Given the description of an element on the screen output the (x, y) to click on. 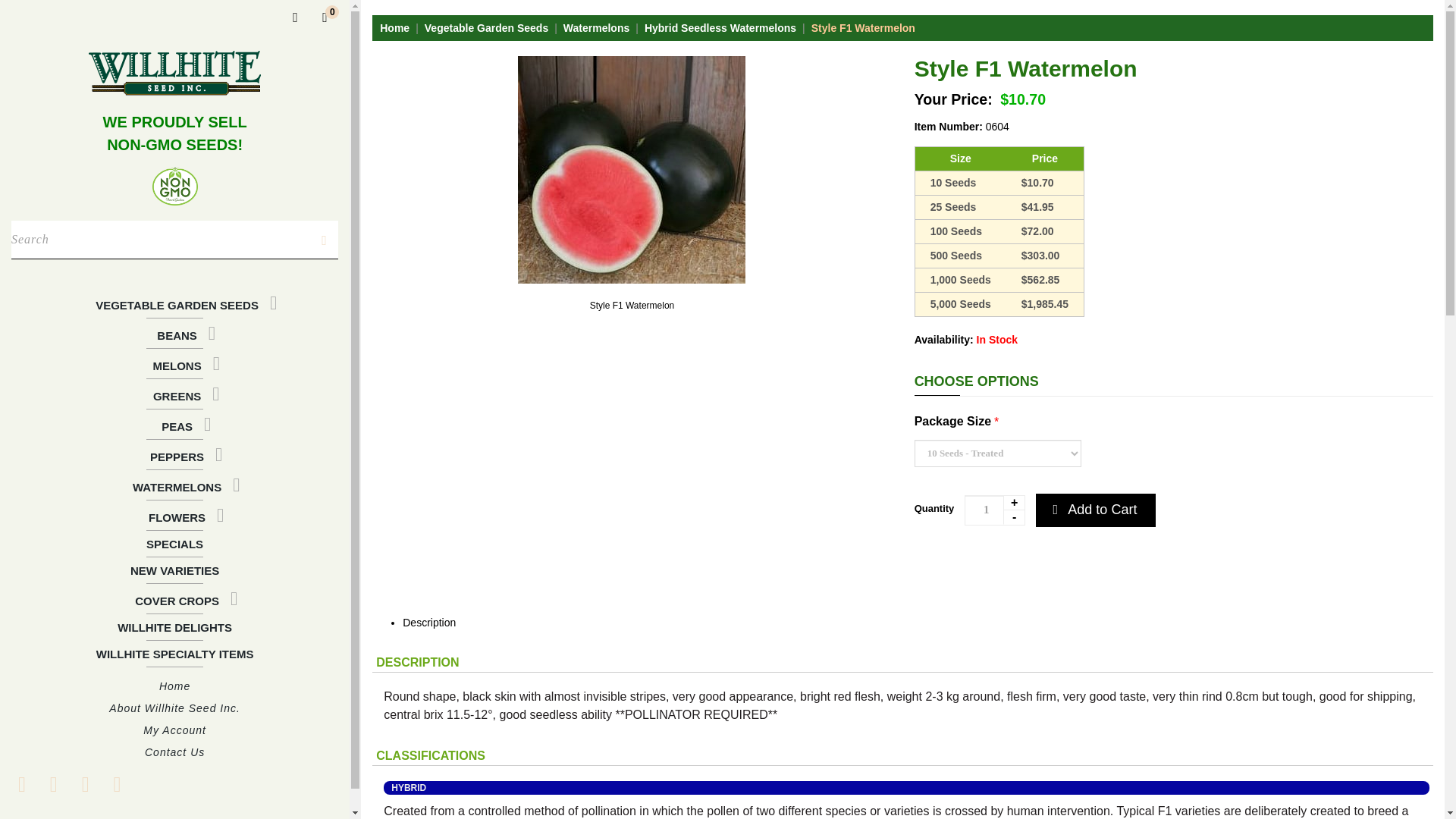
1 (994, 510)
Follow Us on Twitter (53, 784)
home (174, 72)
0 (324, 17)
Follow Us on Instagram (117, 784)
Follow Us on Pinterest (85, 784)
Style F1 Watermelon  (631, 169)
Like Us on Facebook (21, 784)
VEGETABLE GARDEN SEEDS (174, 303)
Style F1 Watermelon  (631, 305)
Willhite Seed (174, 72)
